Given the description of an element on the screen output the (x, y) to click on. 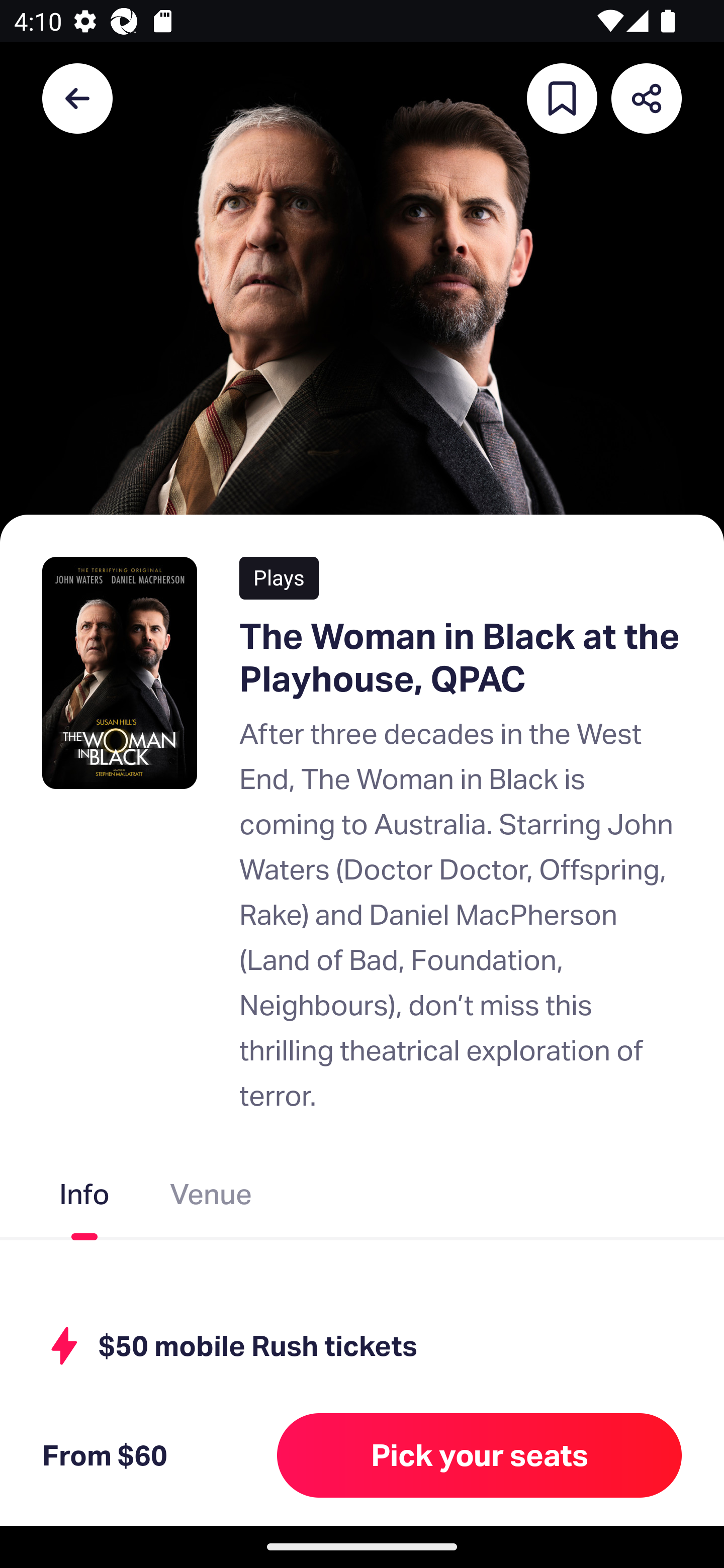
Venue (210, 1197)
Pick your seats (479, 1454)
